Given the description of an element on the screen output the (x, y) to click on. 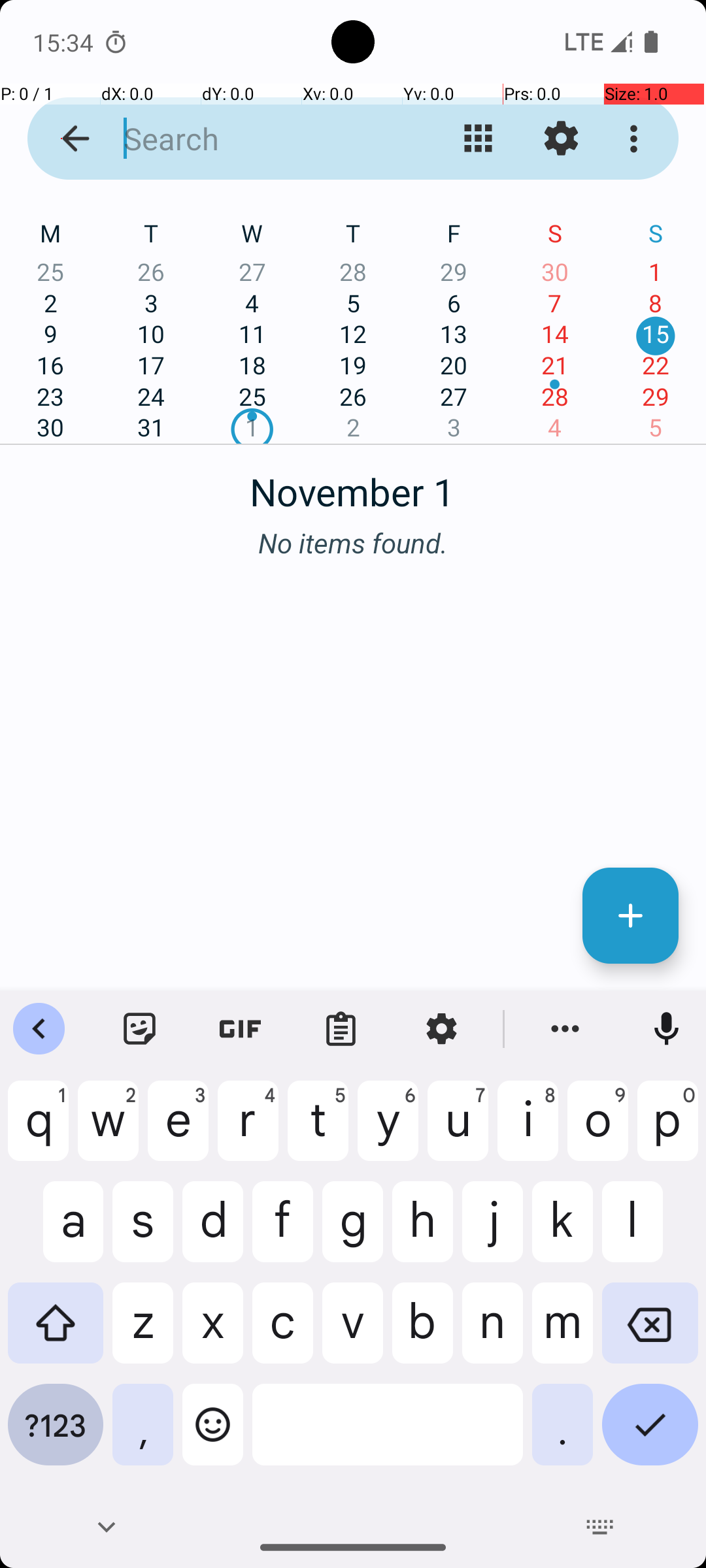
November 1 Element type: android.widget.TextView (352, 483)
